Given the description of an element on the screen output the (x, y) to click on. 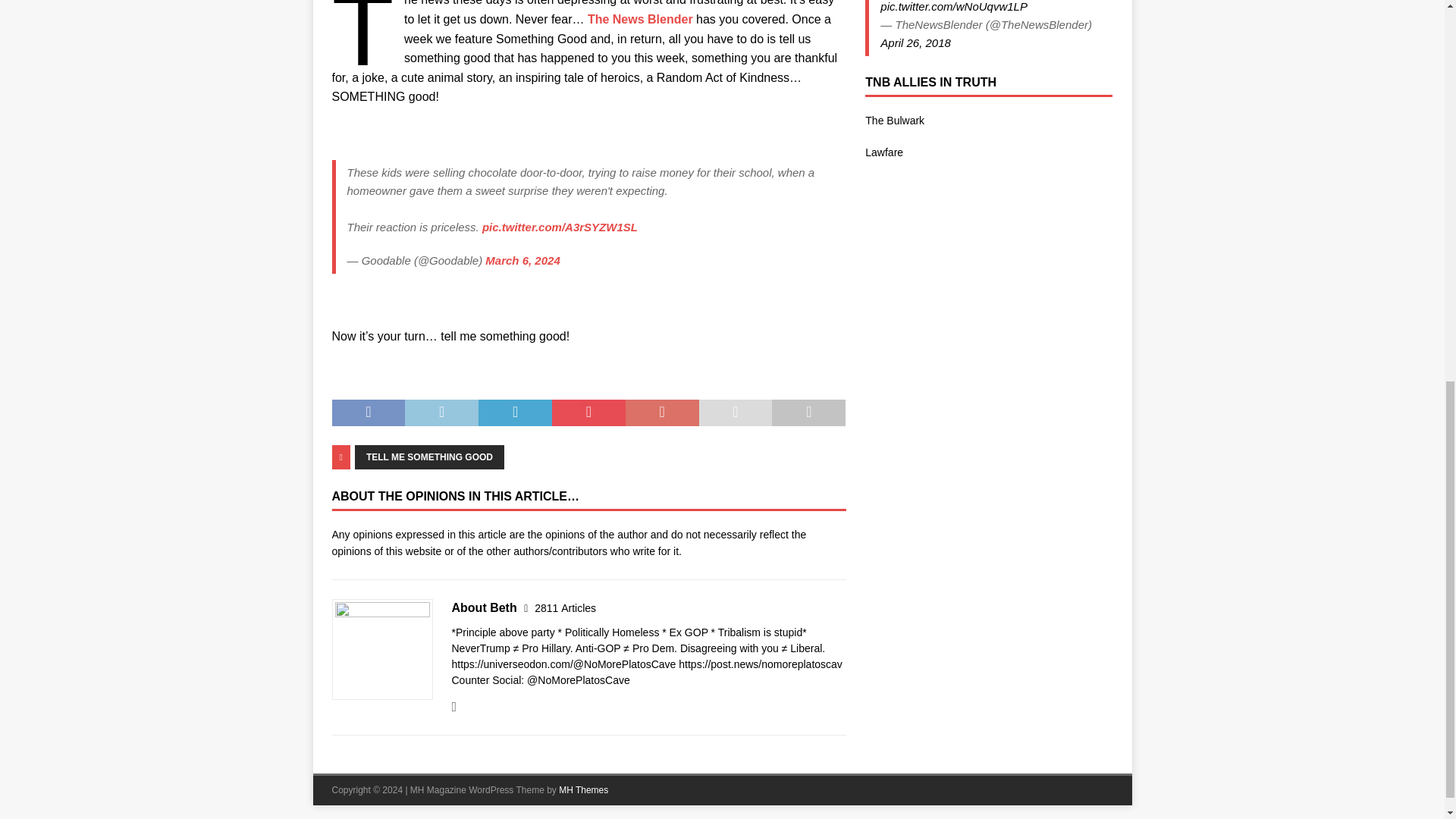
2811 Articles (564, 607)
March 6, 2024 (521, 259)
Premium WordPress Themes (583, 789)
Follow Beth on Twitter (454, 706)
More articles written by Beth' (564, 607)
The News Blender (640, 19)
TELL ME SOMETHING GOOD (429, 457)
